Given the description of an element on the screen output the (x, y) to click on. 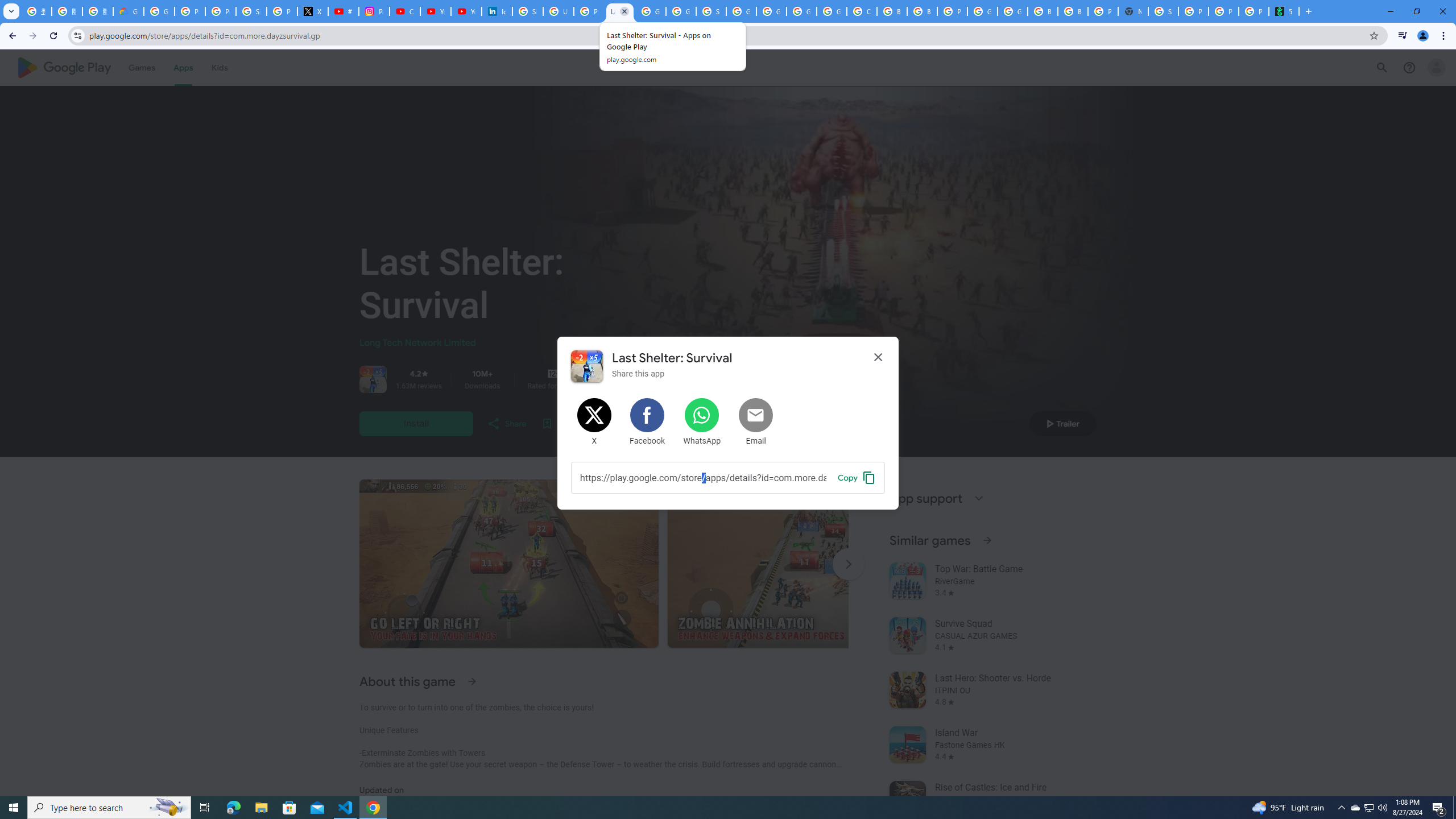
Sign in - Google Accounts (1162, 11)
Share on Facebook (647, 421)
X (312, 11)
